Given the description of an element on the screen output the (x, y) to click on. 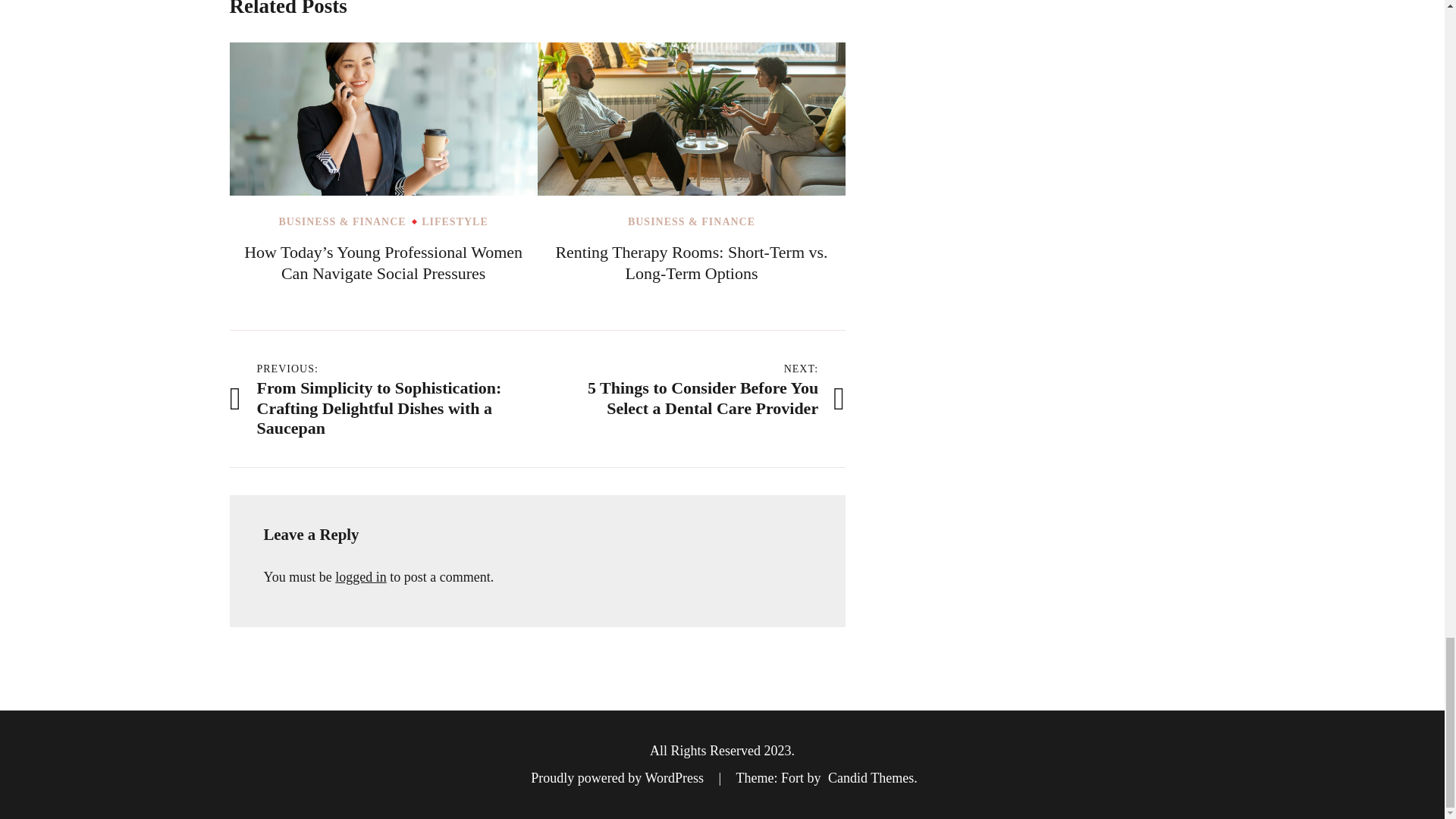
LIFESTYLE (455, 222)
Renting Therapy Rooms: Short-Term vs. Long-Term Options (690, 262)
